Given the description of an element on the screen output the (x, y) to click on. 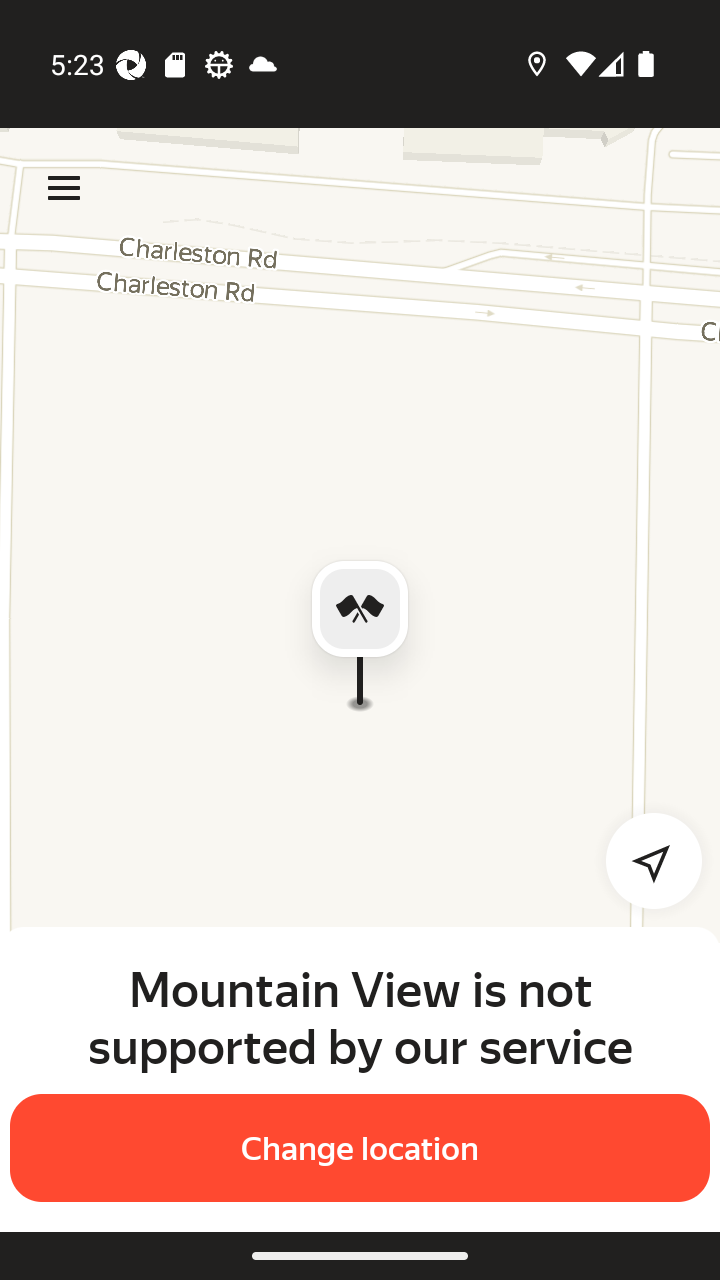
Menu Menu Menu (64, 188)
Detect my location (641, 860)
Mountain View is not supported by our service (360, 1017)
Change location (359, 1147)
